Given the description of an element on the screen output the (x, y) to click on. 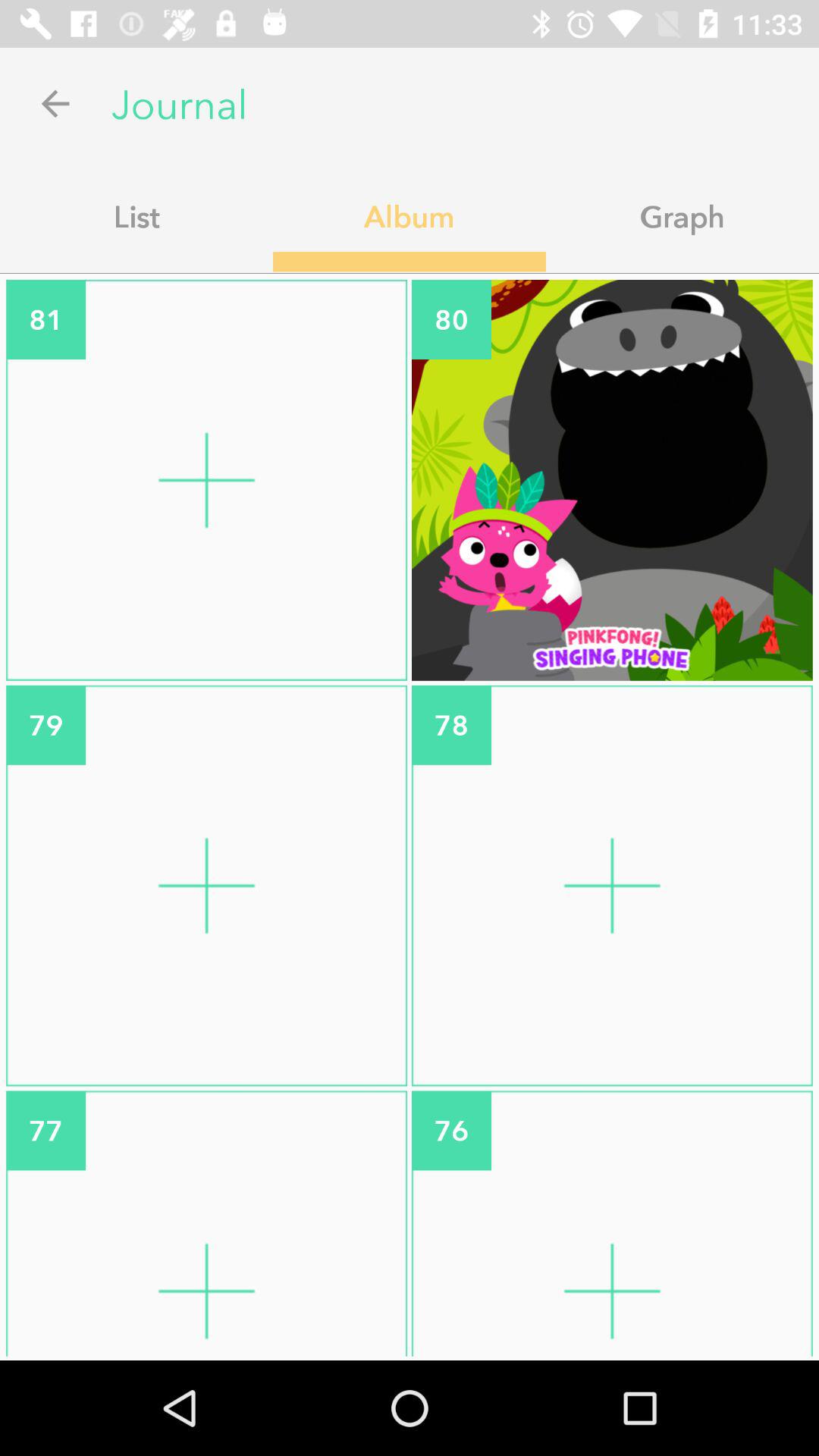
choose the graph (682, 216)
